Given the description of an element on the screen output the (x, y) to click on. 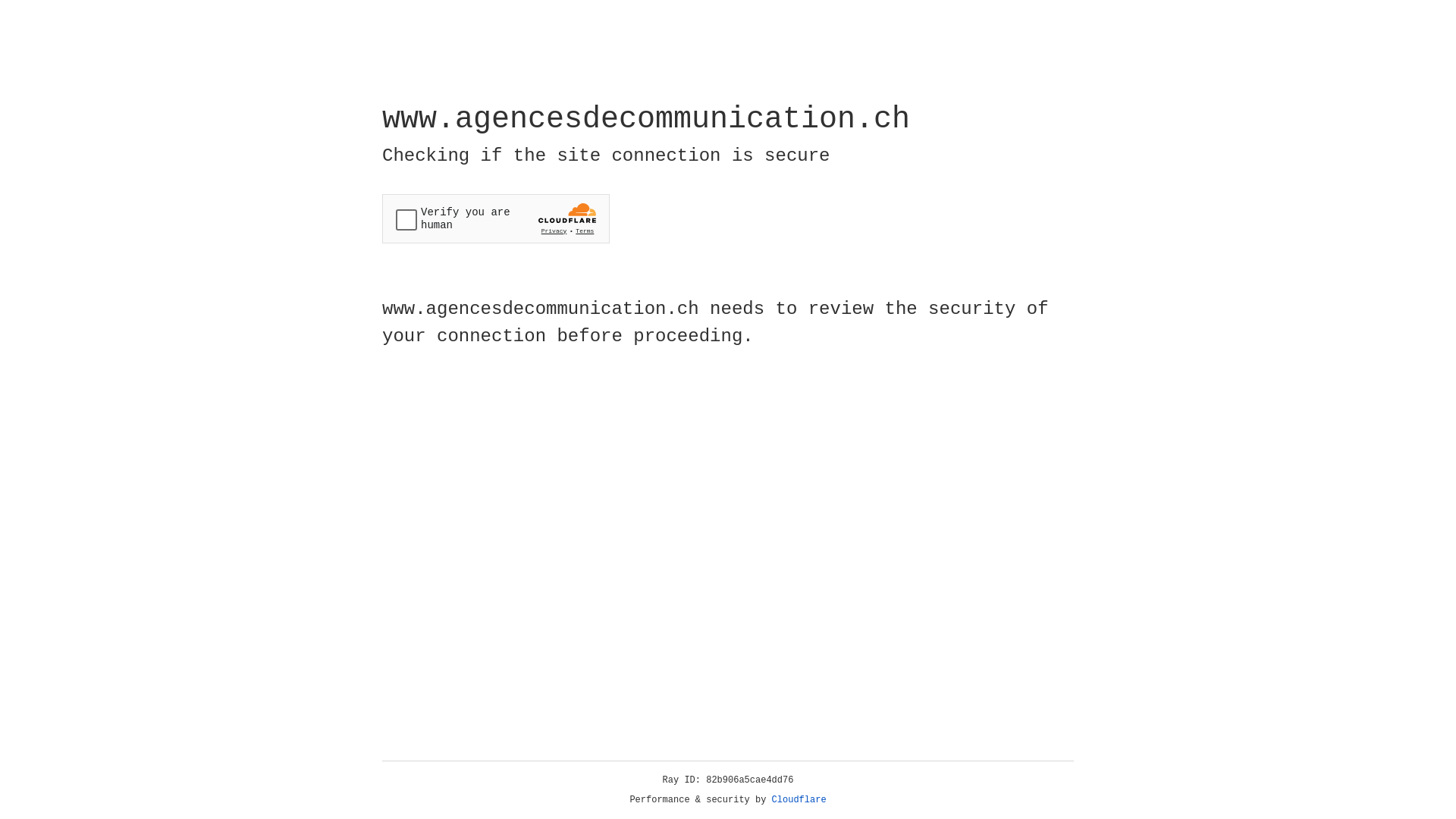
Widget containing a Cloudflare security challenge Element type: hover (495, 218)
Cloudflare Element type: text (798, 799)
